Given the description of an element on the screen output the (x, y) to click on. 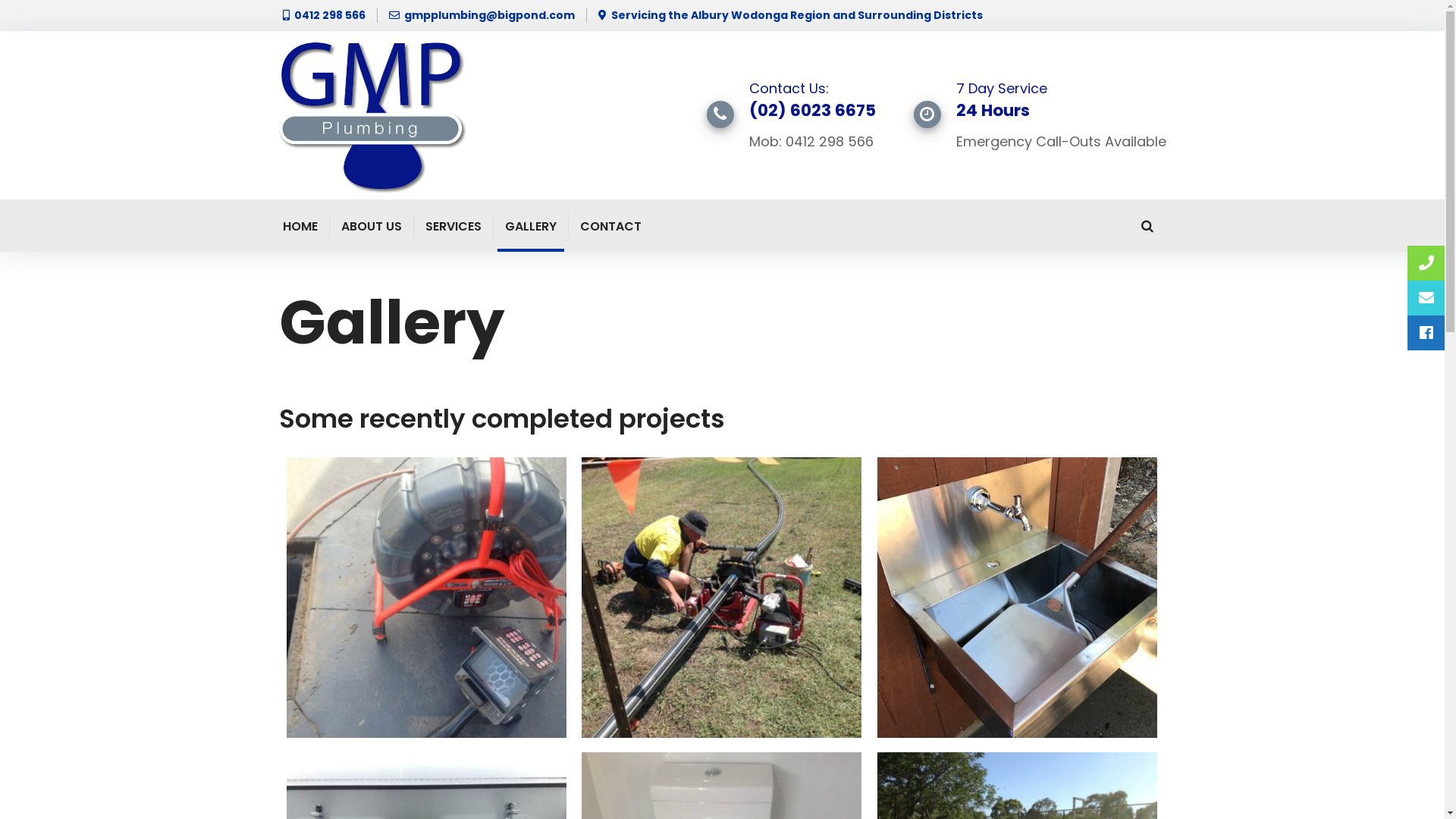
24 Hours Element type: text (992, 110)
  0412 298 566 Element type: text (327, 15)
(02) 6023 6675 Element type: text (812, 110)
CONTACT Element type: text (609, 225)
ABOUT US Element type: text (371, 225)
  gmpplumbing@bigpond.com Element type: text (486, 15)
GALLERY Element type: text (530, 225)
HOME Element type: text (299, 225)
Skip to content Element type: text (0, 0)
Mob: 0412 298 566 Element type: text (811, 140)
SERVICES Element type: text (452, 225)
